Given the description of an element on the screen output the (x, y) to click on. 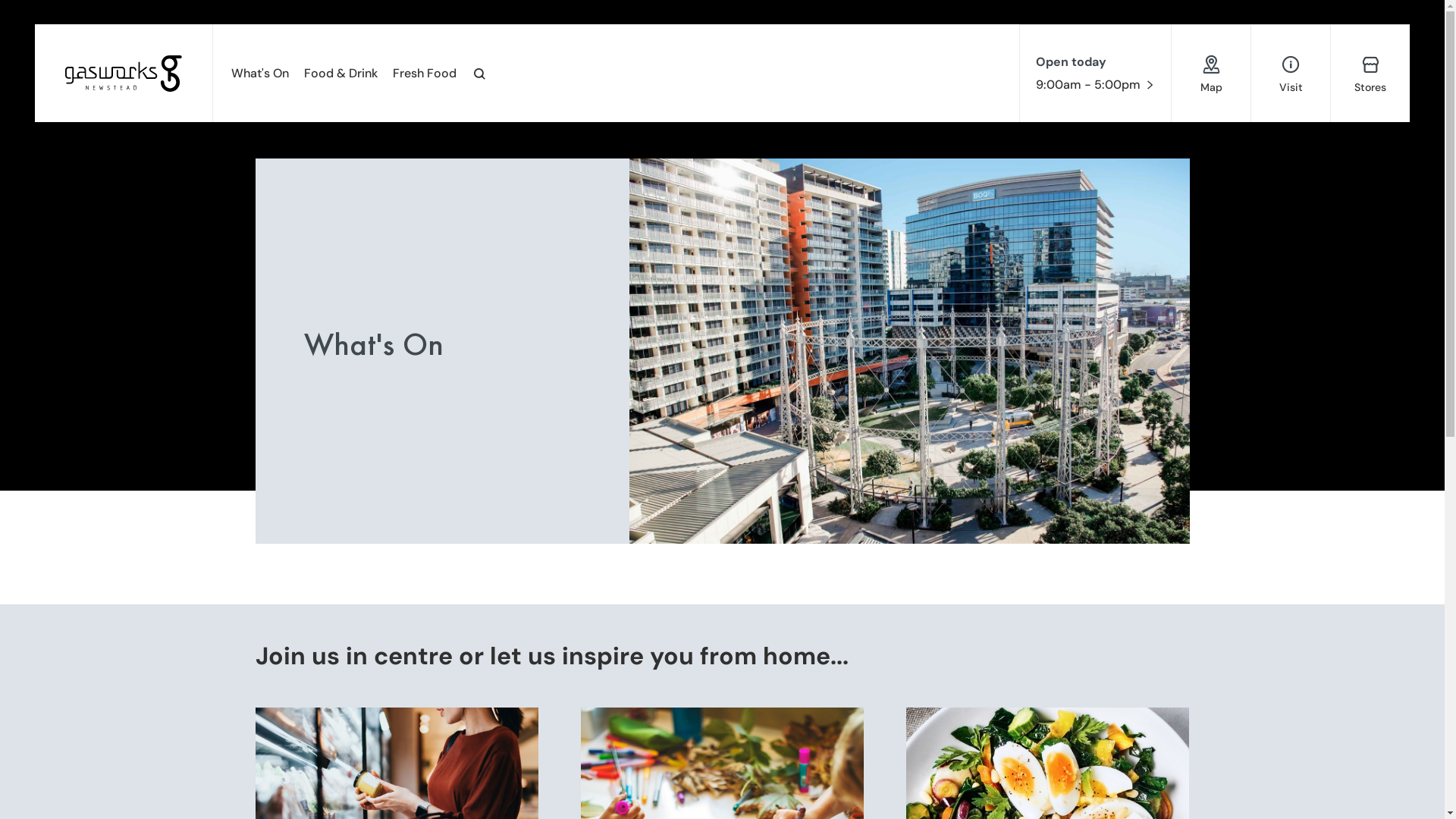
Food & Drink Element type: text (340, 73)
Open today
9:00am - 5:00pm Element type: text (1095, 73)
Map Element type: text (1210, 73)
What's On Element type: text (259, 73)
Fresh Food Element type: text (424, 73)
Stores Element type: text (1370, 73)
Visit Element type: text (1290, 73)
